Given the description of an element on the screen output the (x, y) to click on. 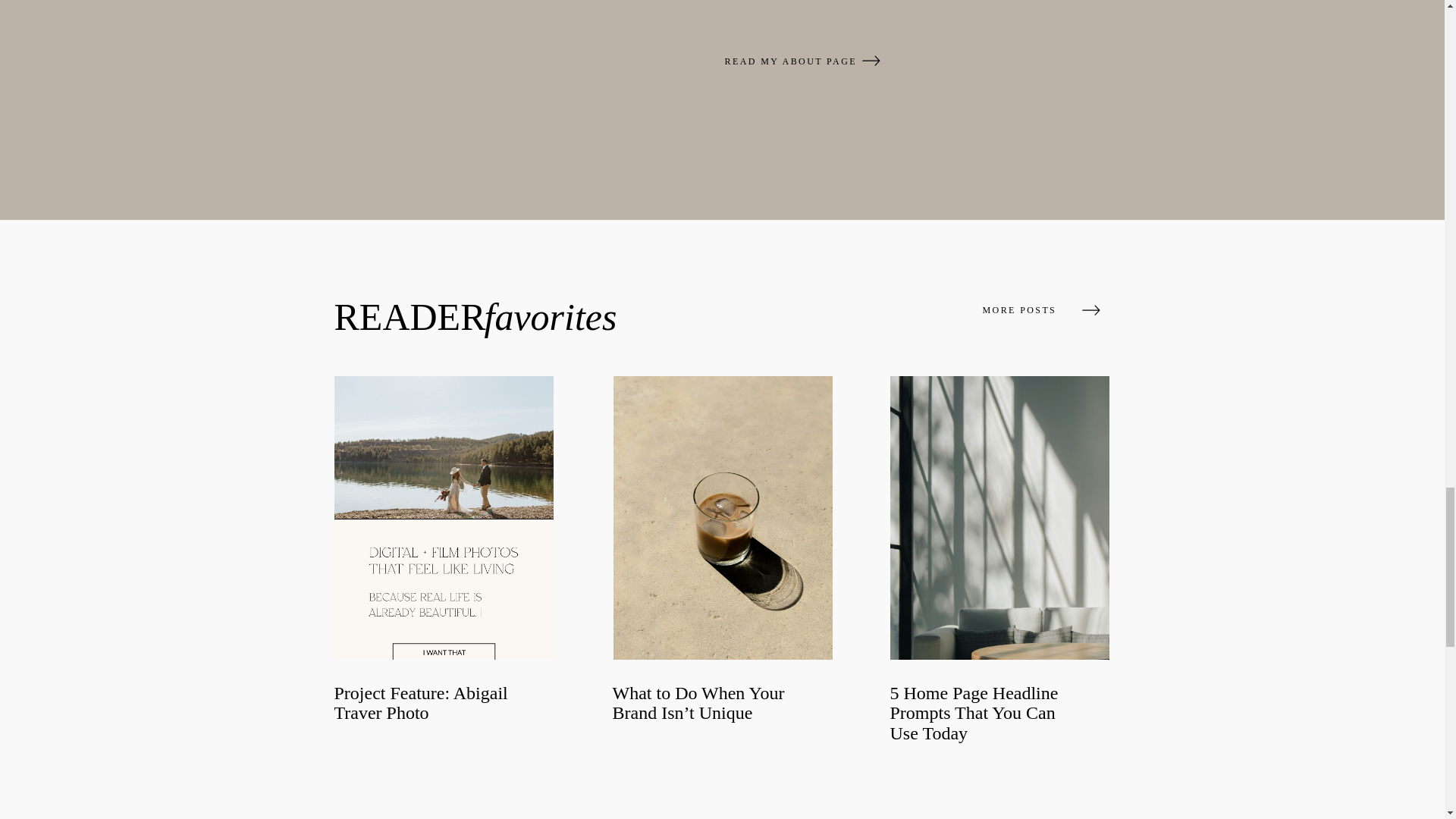
READ MY ABOUT PAGE (792, 60)
5 Home Page Headline Prompts That You Can Use Today (973, 712)
Project Feature: Abigail Traver Photo (419, 702)
